Given the description of an element on the screen output the (x, y) to click on. 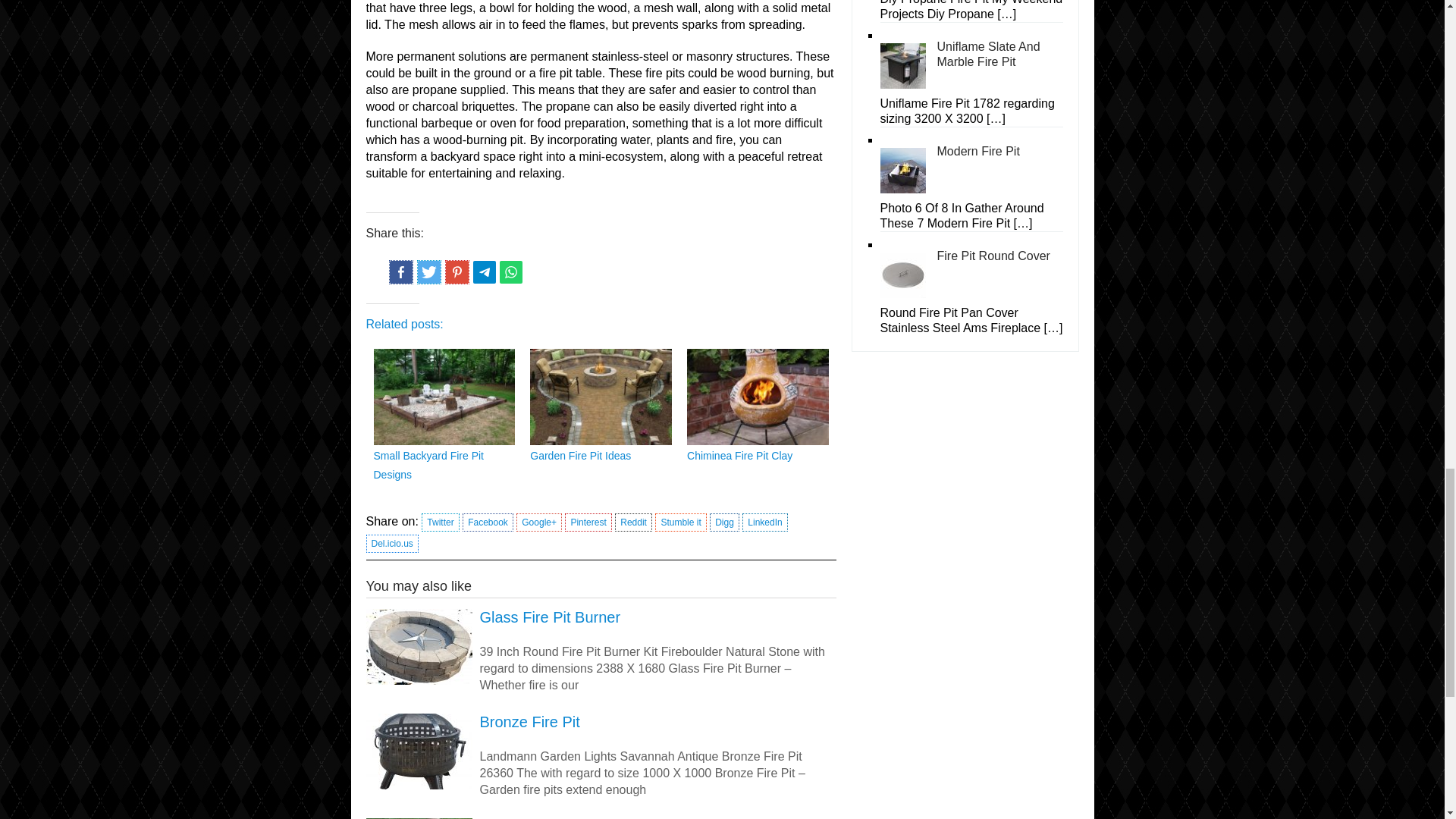
Pin this (456, 272)
Permalink to: Small Backyard Fire Pit Designs (427, 464)
Garden Fire Pit Ideas (579, 455)
Permalink to: Chiminea Fire Pit Clay (739, 455)
Del.icio.us (391, 543)
Facebook (488, 522)
Pinterest (587, 522)
Permalink to: Garden Fire Pit Ideas (579, 455)
Glass Fire Pit Burner (600, 617)
Telegram Share (484, 272)
Reddit (633, 522)
Digg (724, 522)
Whatsapp (510, 272)
Bronze Fire Pit (600, 721)
